Given the description of an element on the screen output the (x, y) to click on. 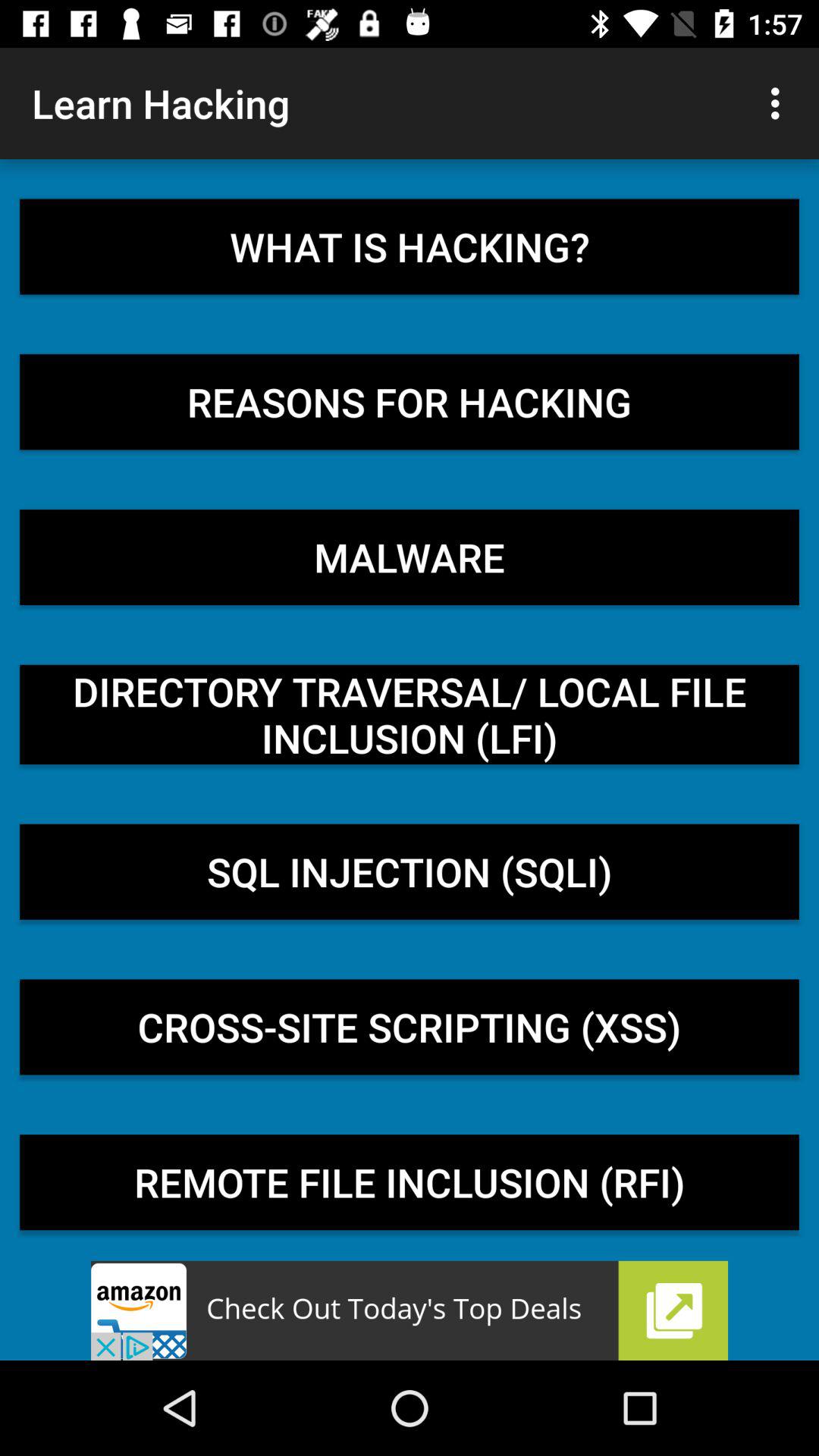
check deals (409, 1310)
